Given the description of an element on the screen output the (x, y) to click on. 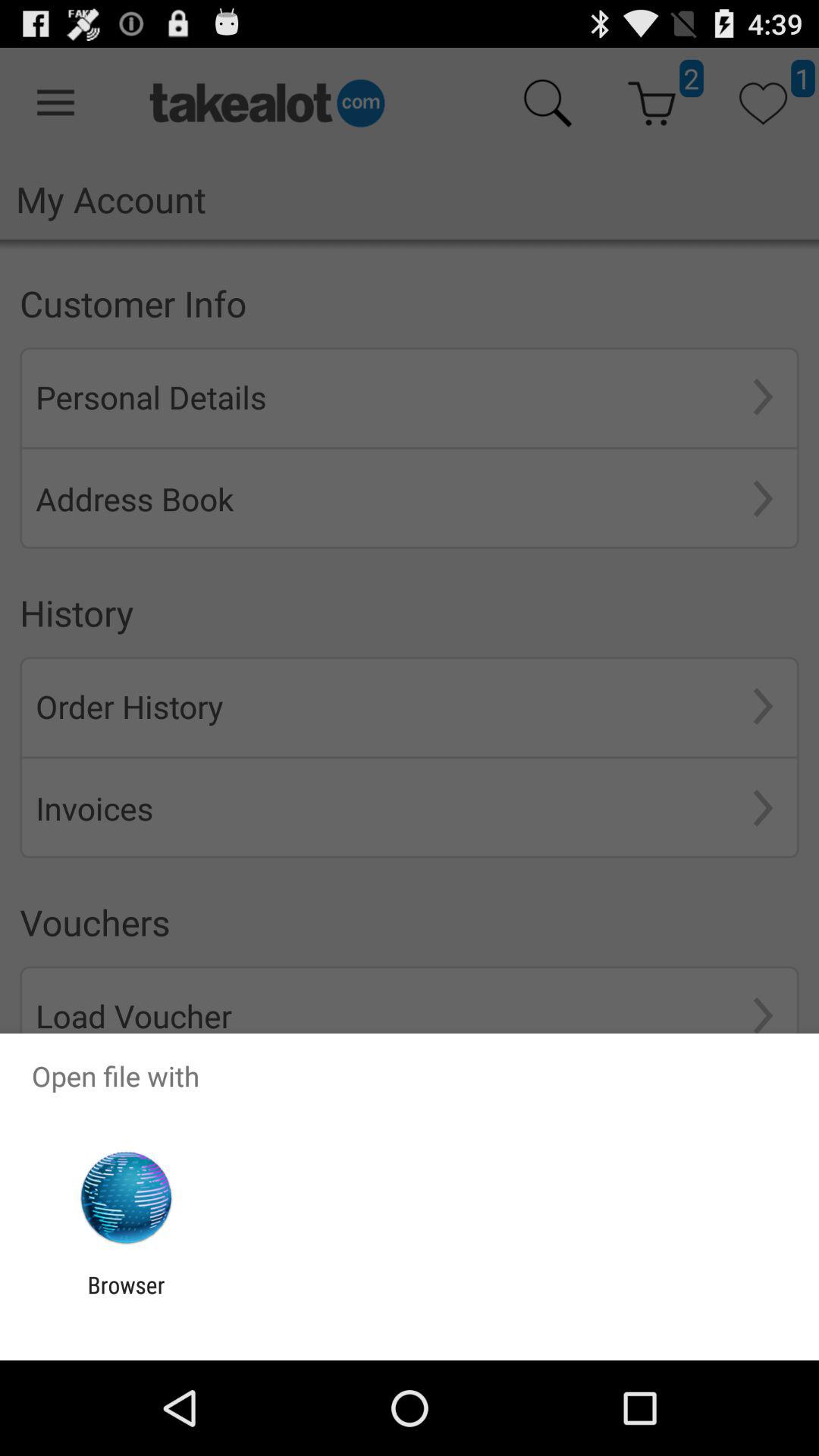
jump until browser icon (125, 1298)
